Given the description of an element on the screen output the (x, y) to click on. 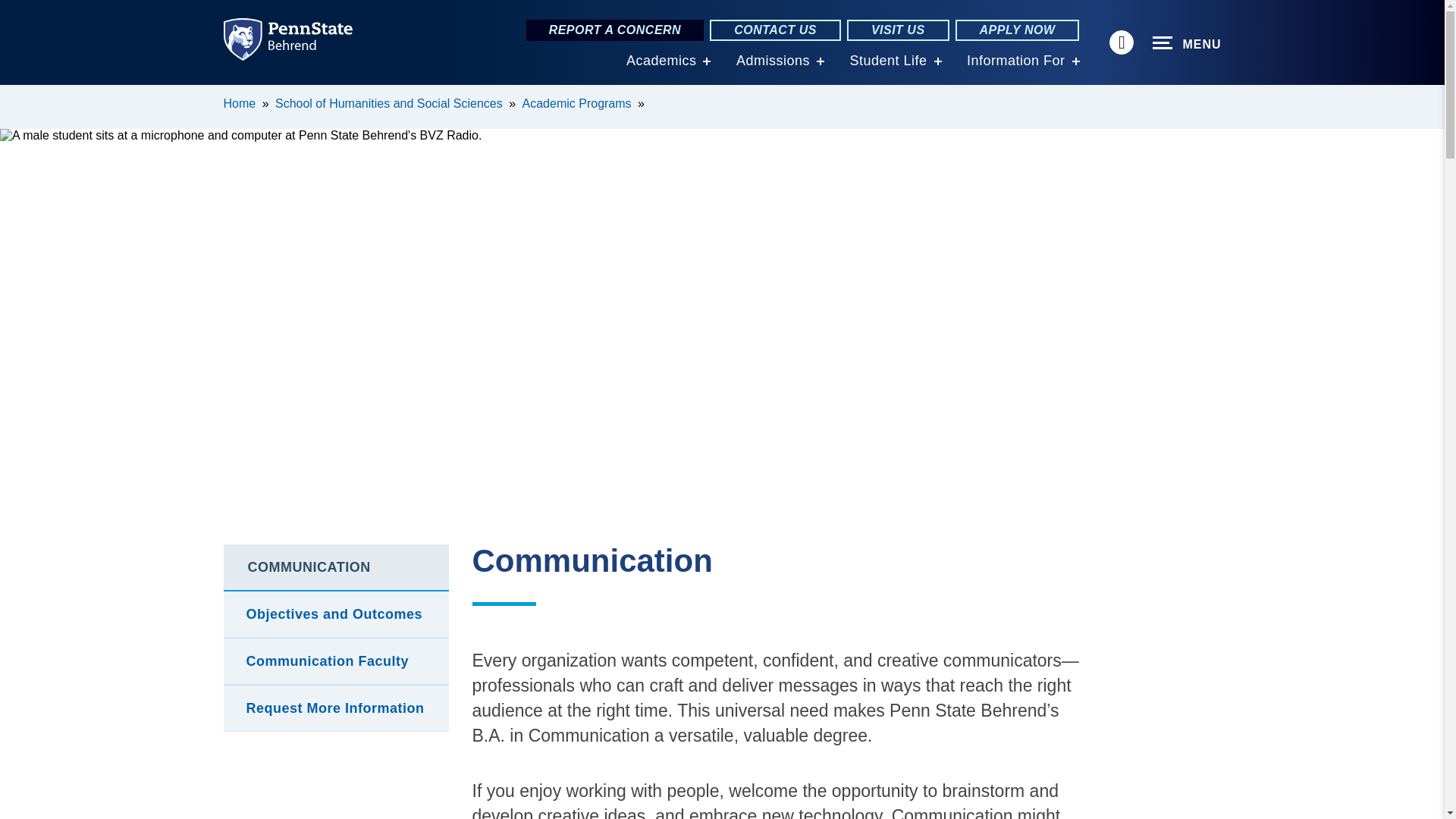
CONTACT US (775, 29)
REPORT A CONCERN (614, 29)
MENU (1187, 43)
VISIT US (898, 29)
Admissions (772, 60)
SKIP TO MAIN CONTENT (19, 95)
Academics (661, 60)
Student Life (887, 60)
APPLY NOW (1017, 29)
